Given the description of an element on the screen output the (x, y) to click on. 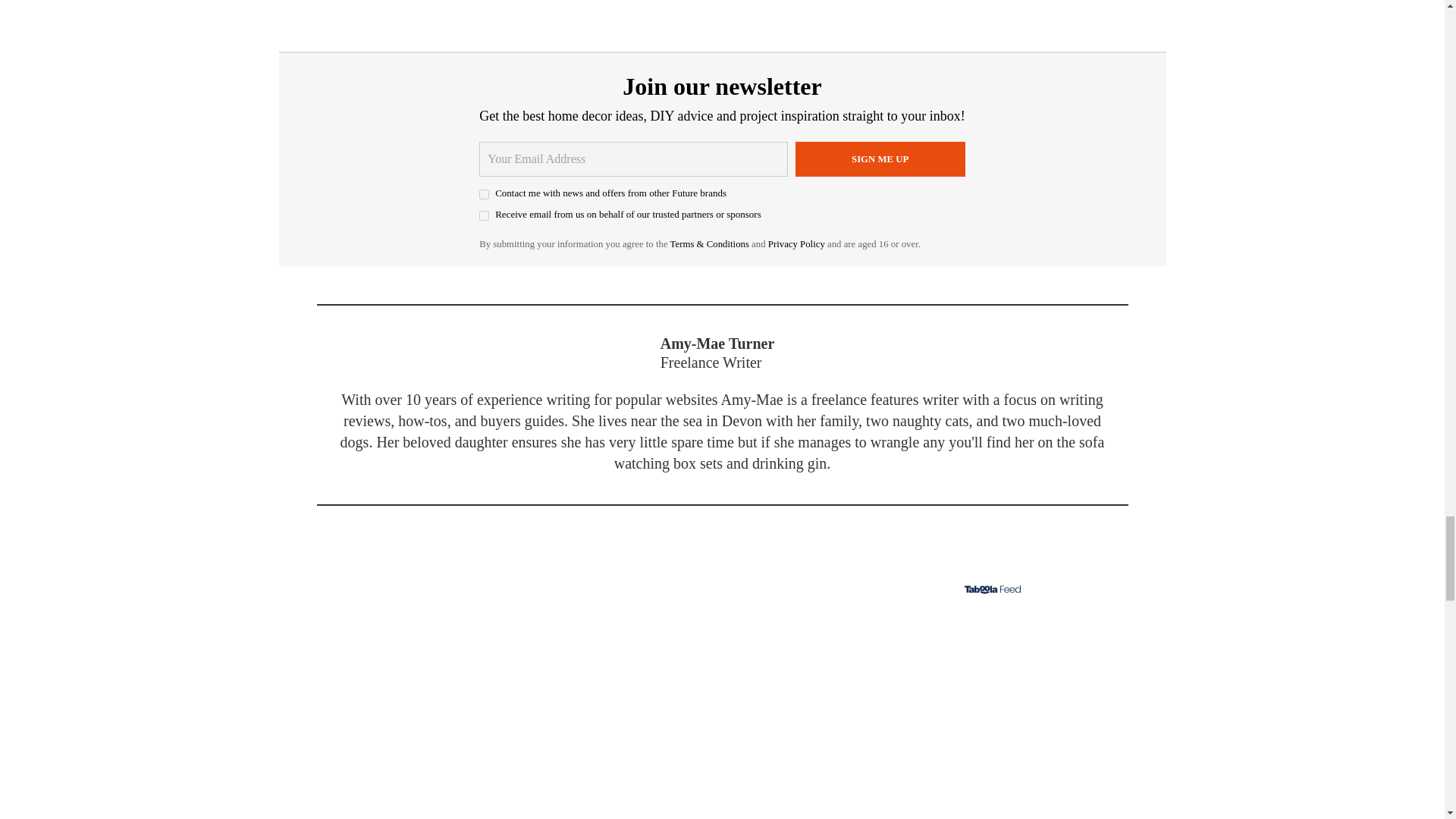
on (484, 215)
If you own a mouse, play it for 1 minute. (722, 711)
on (484, 194)
Sign me up (879, 158)
